Given the description of an element on the screen output the (x, y) to click on. 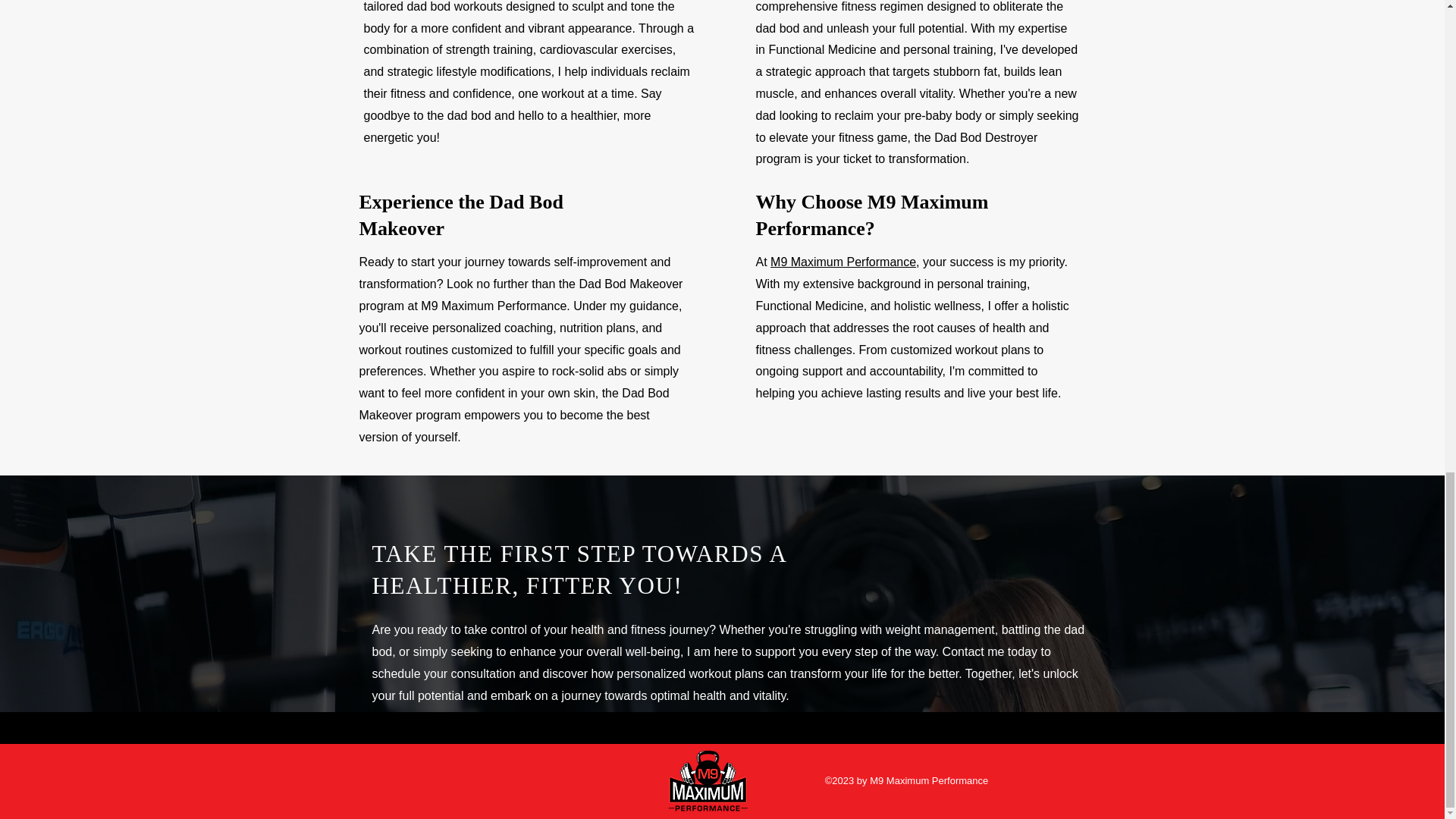
M9 Maximum Performance (842, 261)
